Given the description of an element on the screen output the (x, y) to click on. 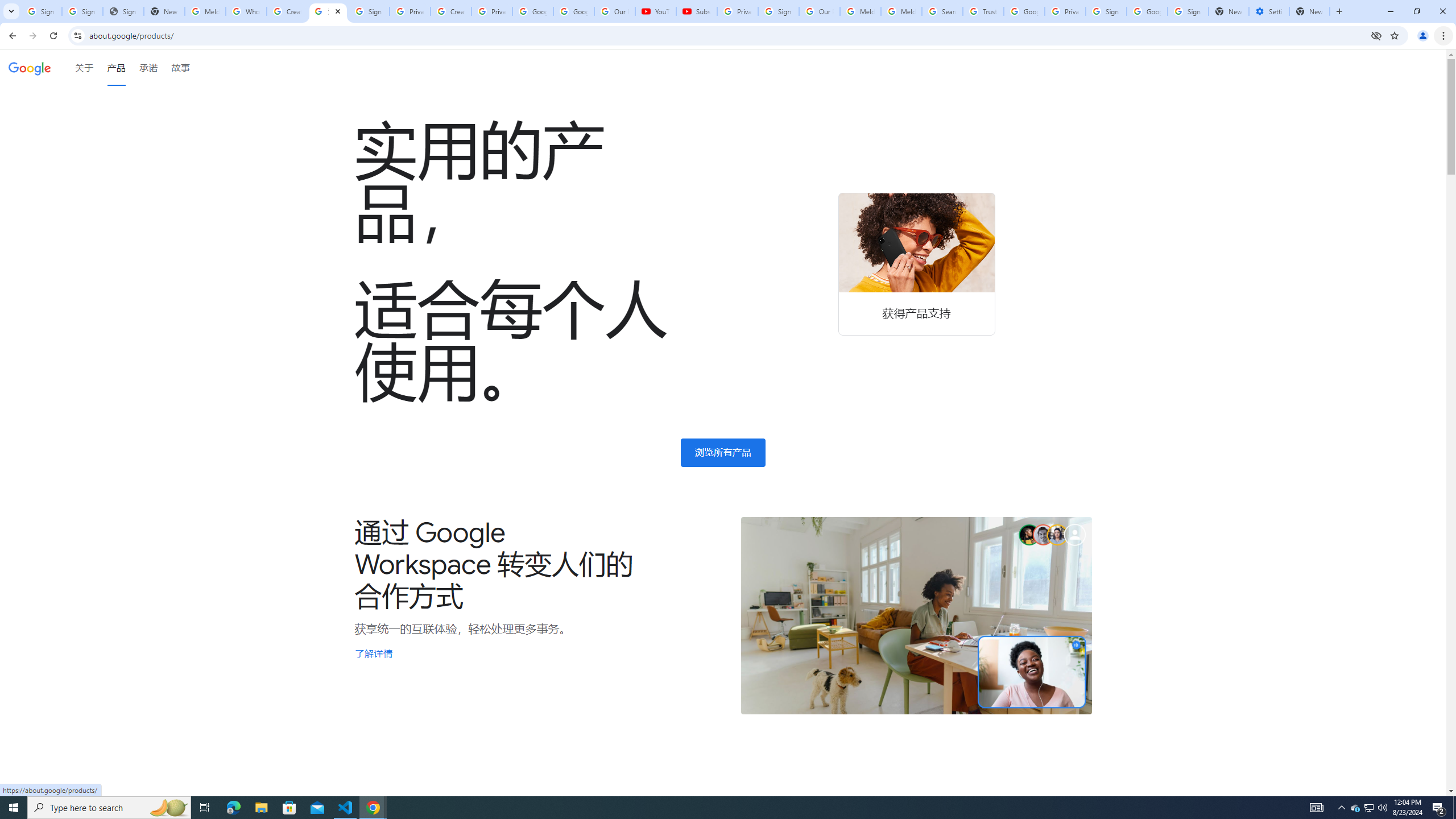
Sign In - USA TODAY (122, 11)
YouTube (655, 11)
Sign in - Google Accounts (368, 11)
Subscriptions - YouTube (696, 11)
Sign in - Google Accounts (777, 11)
Sign in - Google Accounts (81, 11)
Restore (1416, 11)
Search our Doodle Library Collection - Google Doodles (942, 11)
